Given the description of an element on the screen output the (x, y) to click on. 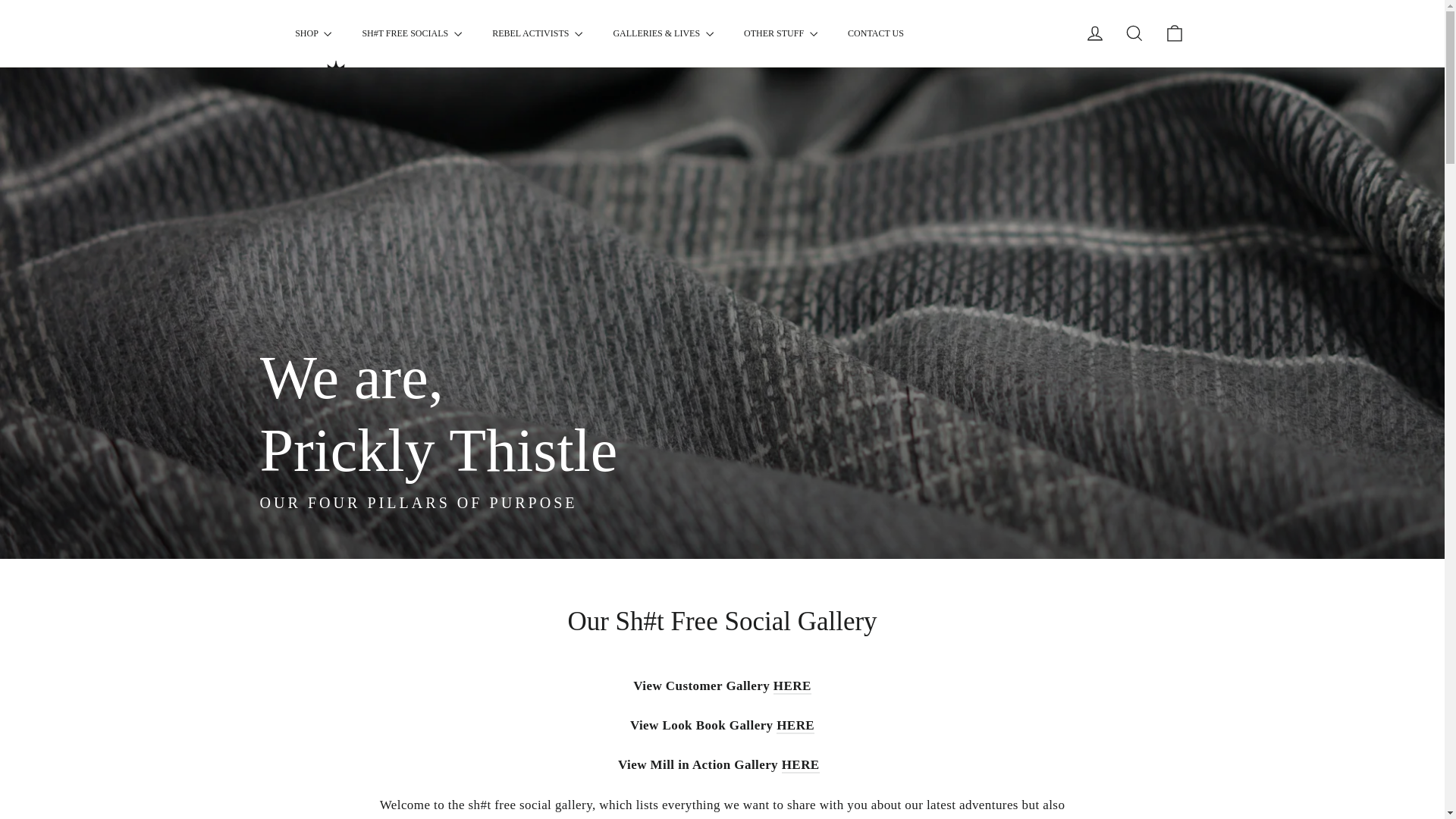
account (1094, 33)
icon-search (1134, 33)
icon-bag-minimal (1174, 33)
